Given the description of an element on the screen output the (x, y) to click on. 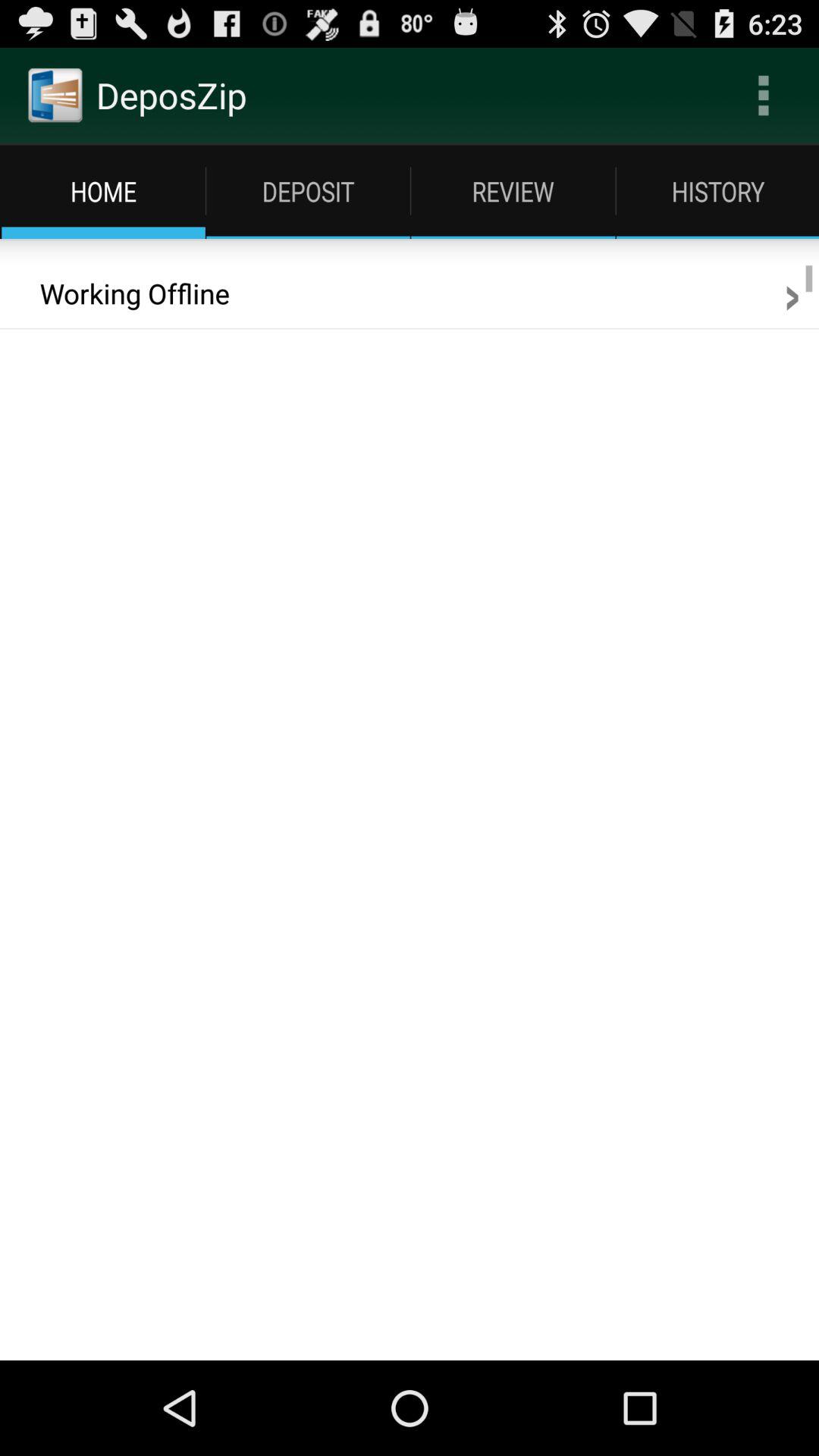
tap item to the left of the > icon (124, 293)
